Given the description of an element on the screen output the (x, y) to click on. 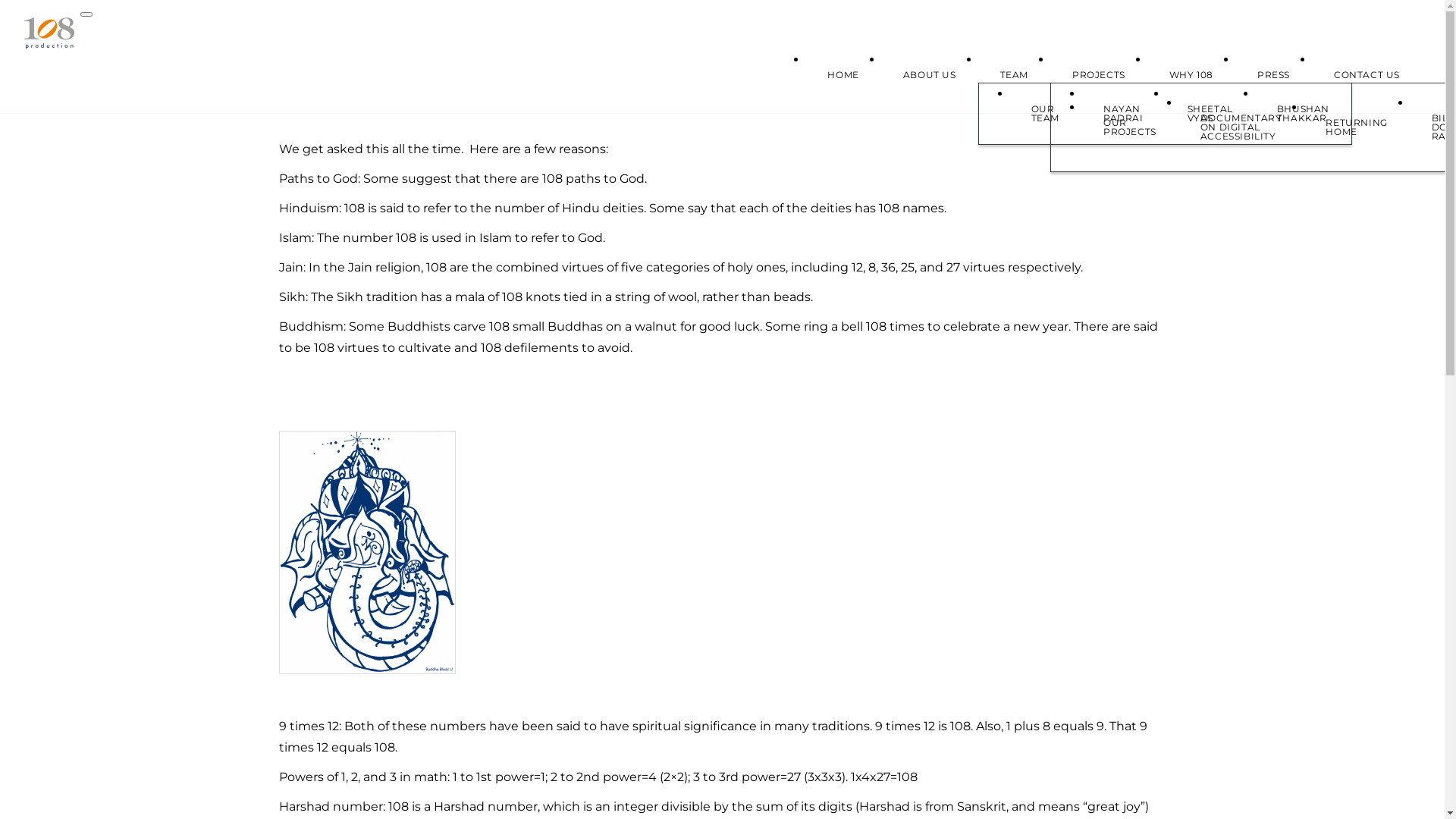
BHUSHAN THAKKAR Element type: text (1302, 113)
CONTACT US Element type: text (1366, 74)
OUR TEAM Element type: text (1045, 113)
TEAM Element type: text (1013, 74)
WHY 108 Element type: text (1190, 74)
PROJECTS Element type: text (1098, 74)
ABOUT US Element type: text (929, 74)
RETURNING HOME Element type: text (1355, 127)
OUR PROJECTS Element type: text (1129, 127)
DOCUMENTARY ON DIGITAL ACCESSIBILITY Element type: text (1240, 126)
PRESS Element type: text (1273, 74)
NAYAN PADRAI Element type: text (1123, 113)
SHEETAL VYAS Element type: text (1209, 113)
HOME Element type: text (842, 74)
